Given the description of an element on the screen output the (x, y) to click on. 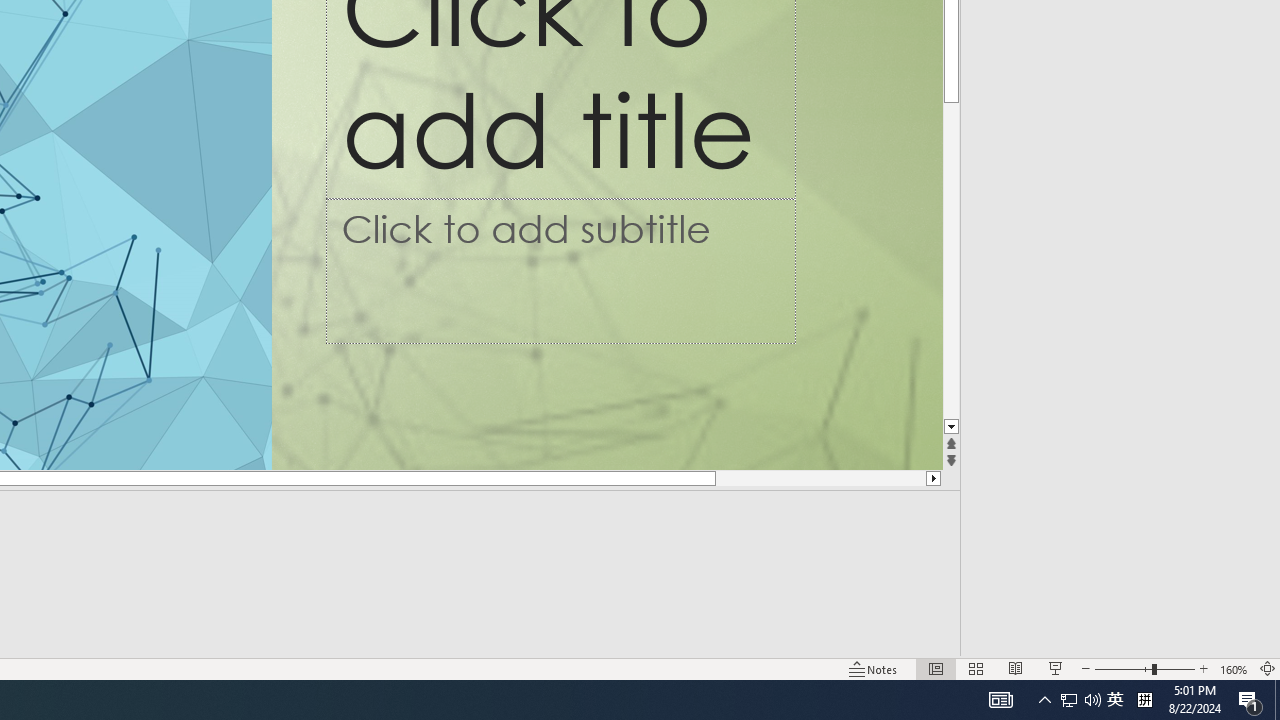
Zoom 160% (1234, 668)
Page down (951, 222)
Subtitle TextBox (561, 271)
Line down (951, 427)
